Given the description of an element on the screen output the (x, y) to click on. 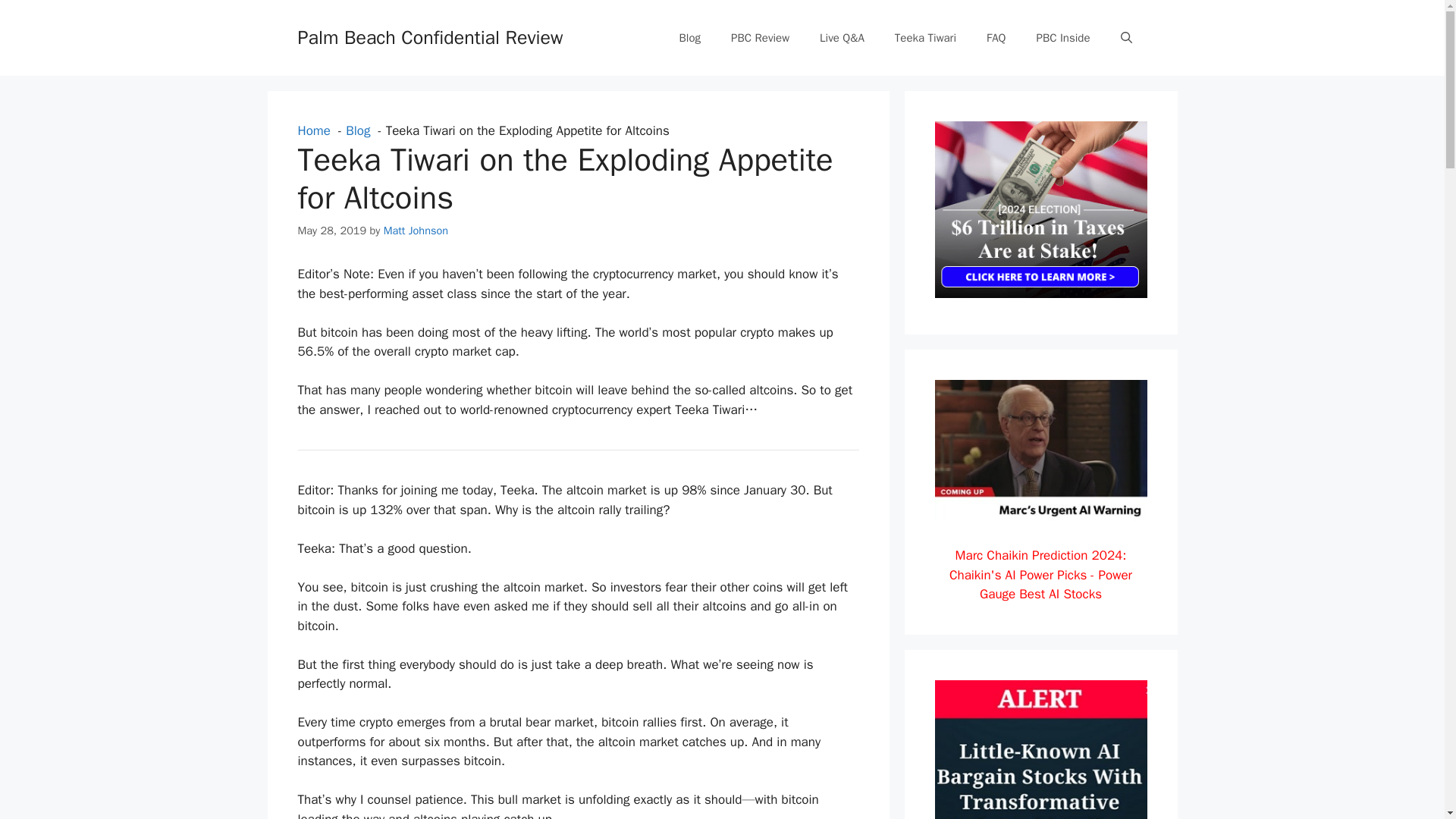
Palm Beach Confidential Review (429, 37)
PBC Inside (1062, 37)
FAQ (995, 37)
PBC Review (760, 37)
Teeka Tiwari (925, 37)
Matt Johnson (416, 229)
Blog (689, 37)
View all posts by Matt Johnson (416, 229)
Home (313, 130)
